Given the description of an element on the screen output the (x, y) to click on. 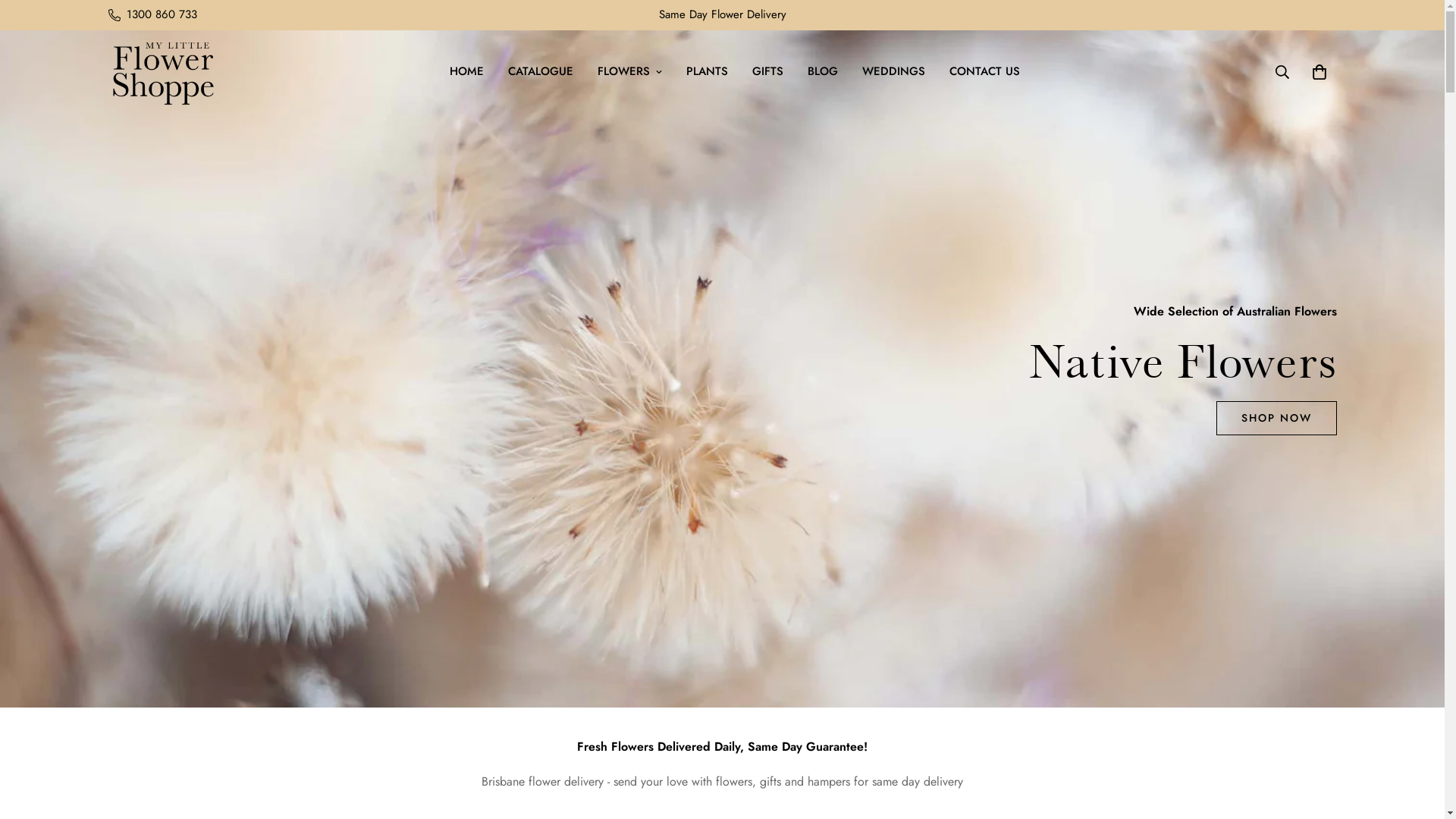
My Little Flower Shoppe Store Element type: hover (162, 71)
PLANTS Element type: text (706, 71)
HOME Element type: text (465, 71)
GIFTS Element type: text (767, 71)
CATALOGUE Element type: text (540, 71)
1300 860 733 Element type: text (151, 14)
WEDDINGS Element type: text (892, 71)
SHOP NOW Element type: text (167, 418)
BLOG Element type: text (821, 71)
CONTACT US Element type: text (984, 71)
FLOWERS Element type: text (629, 71)
